Given the description of an element on the screen output the (x, y) to click on. 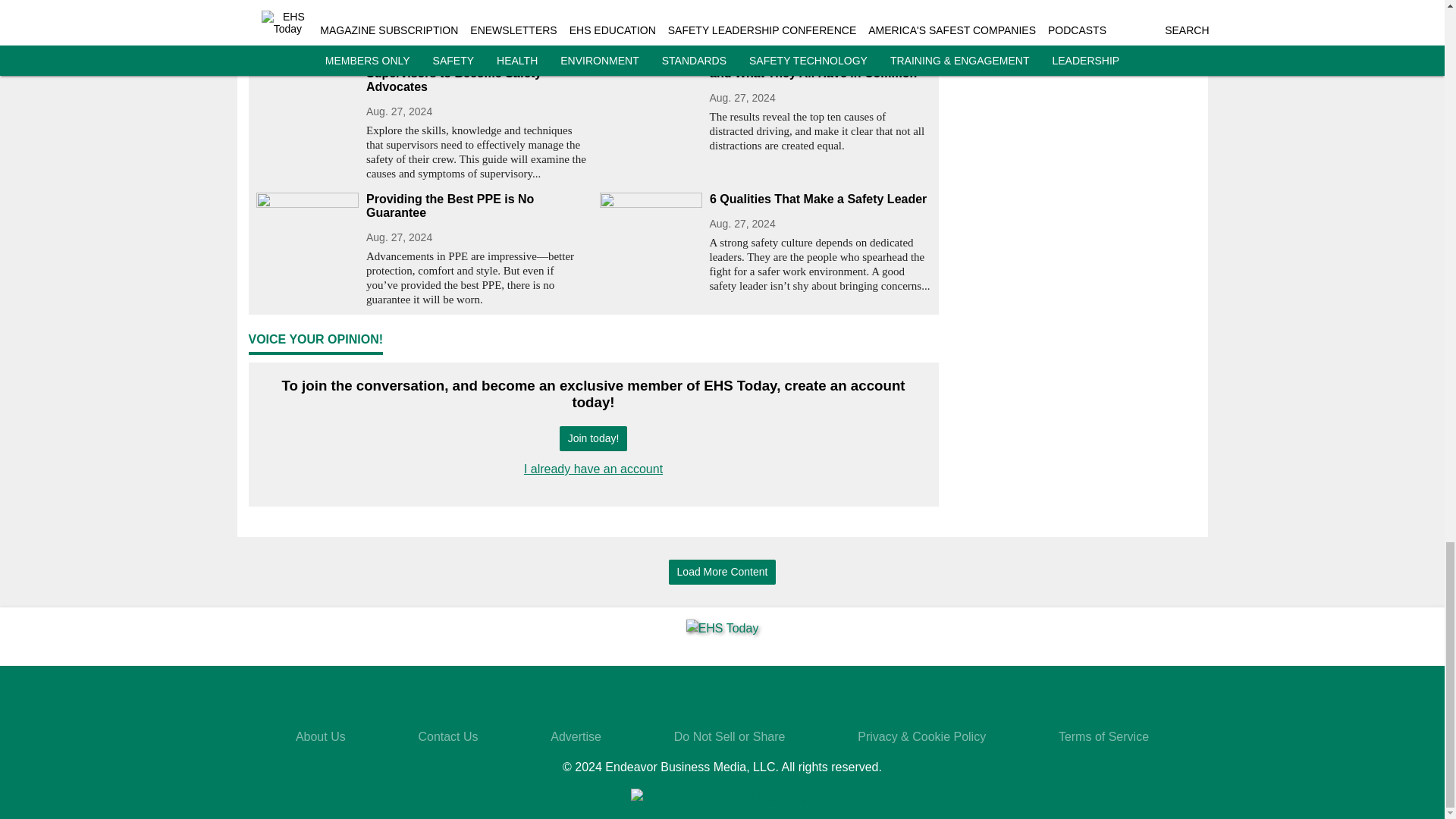
Providing the Best PPE is No Guarantee (476, 206)
6 Qualities That Make a Safety Leader (820, 199)
I already have an account (593, 468)
Join today! (593, 438)
